Given the description of an element on the screen output the (x, y) to click on. 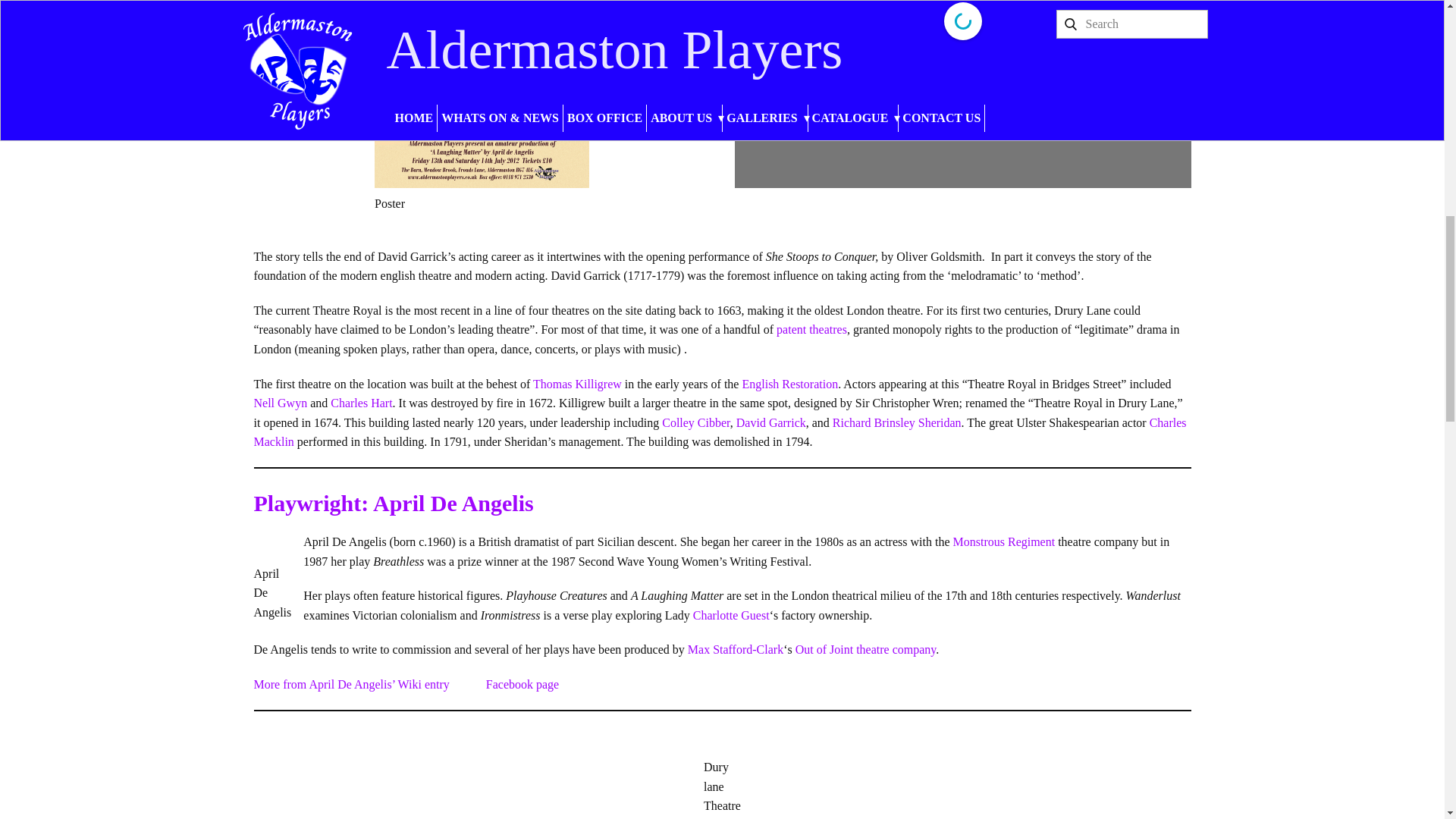
Charlotte Guest (731, 615)
The Restoration (789, 383)
Charles Macklin (719, 432)
Colley Cibber (696, 422)
Richard Brinsley Sheridan (896, 422)
Max Stafford-Clark (735, 649)
Thomas Killigrew (576, 383)
David Garrick (771, 422)
Out of Joint theatre company (865, 649)
Nell Gwyn (280, 402)
